Given the description of an element on the screen output the (x, y) to click on. 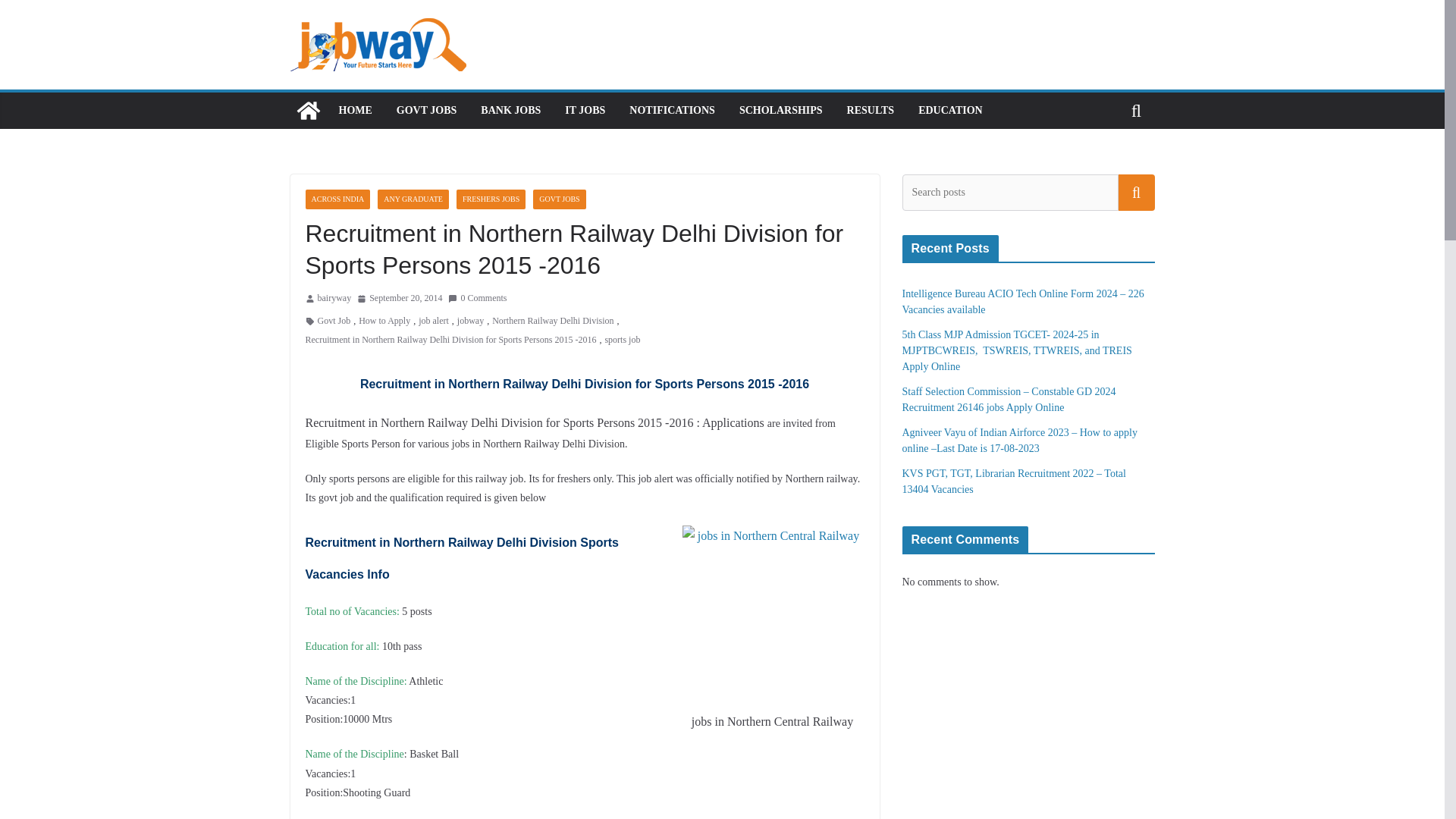
BANK JOBS (510, 110)
bairyway (333, 298)
Govt Job (333, 321)
ANY GRADUATE (412, 199)
NOTIFICATIONS (671, 110)
EDUCATION (950, 110)
sports job (622, 340)
Jobway (307, 110)
How to Apply (384, 321)
Northern Railway Delhi Division (552, 321)
SCHOLARSHIPS (780, 110)
IT JOBS (584, 110)
FRESHERS JOBS (491, 199)
0 Comments (477, 298)
